Given the description of an element on the screen output the (x, y) to click on. 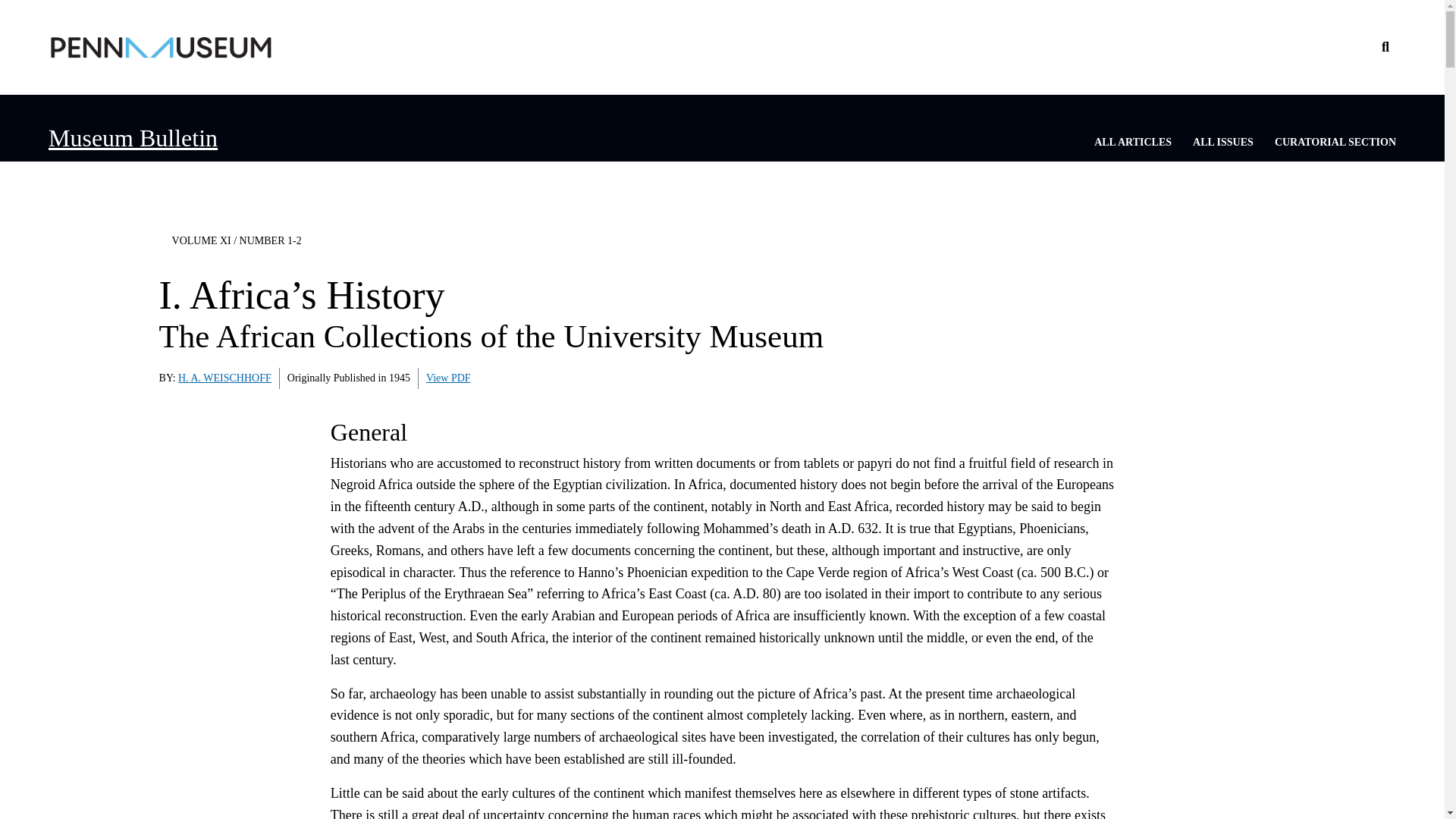
View PDF (448, 378)
ALL ARTICLES (1133, 142)
H. A. WEISCHHOFF (223, 378)
CURATORIAL SECTION (1335, 142)
Museum Bulletin (132, 137)
ALL ISSUES (1222, 142)
